Given the description of an element on the screen output the (x, y) to click on. 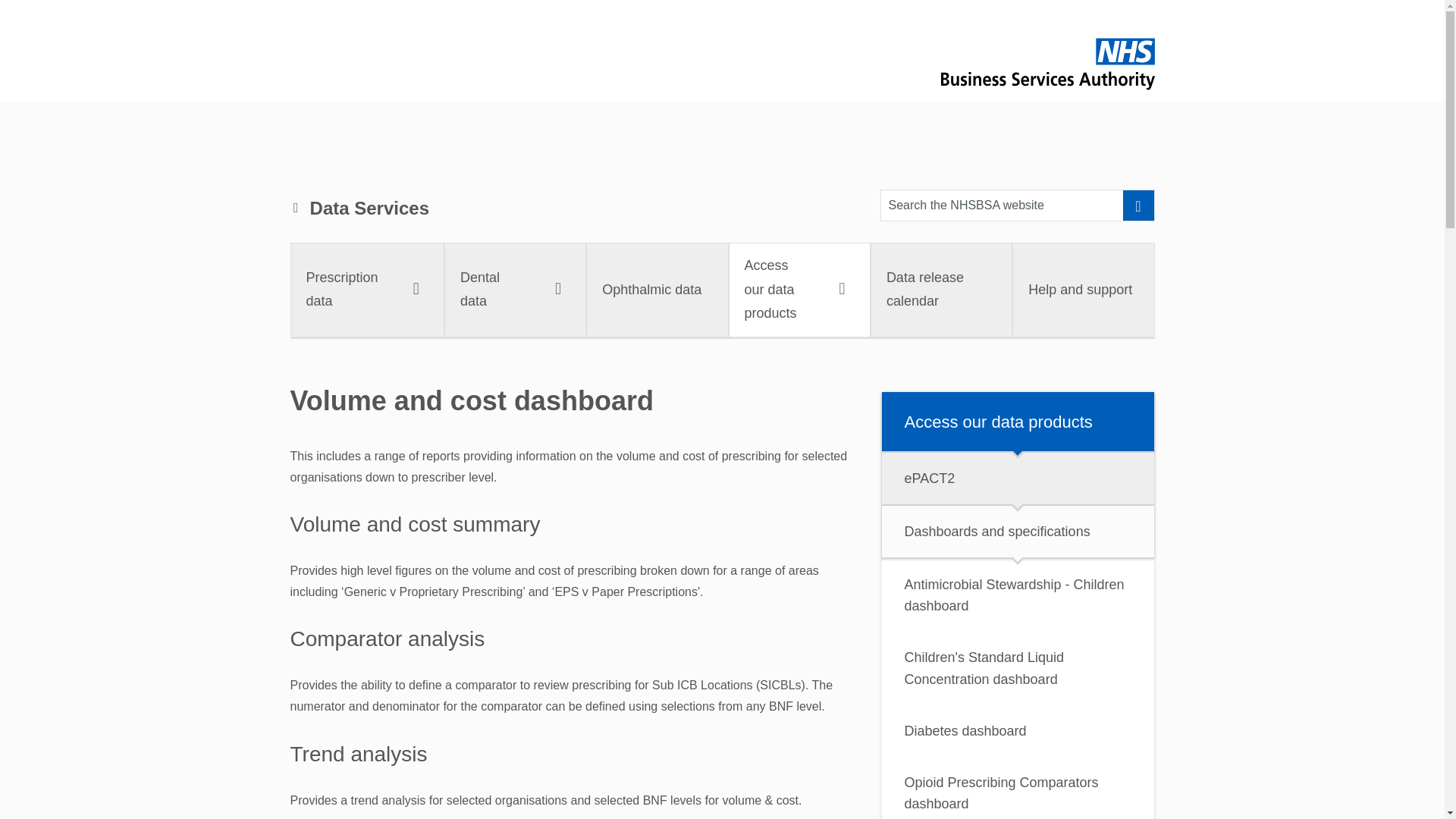
Volume and cost dashboard (943, 205)
Help and support (1082, 289)
Volume and cost dashboard (721, 290)
Ophthalmic data (657, 289)
NHSBSA (1047, 64)
Prescription data (366, 289)
Access our data products (799, 289)
Search (1138, 205)
Data release calendar (940, 289)
Dental data (515, 289)
